Given the description of an element on the screen output the (x, y) to click on. 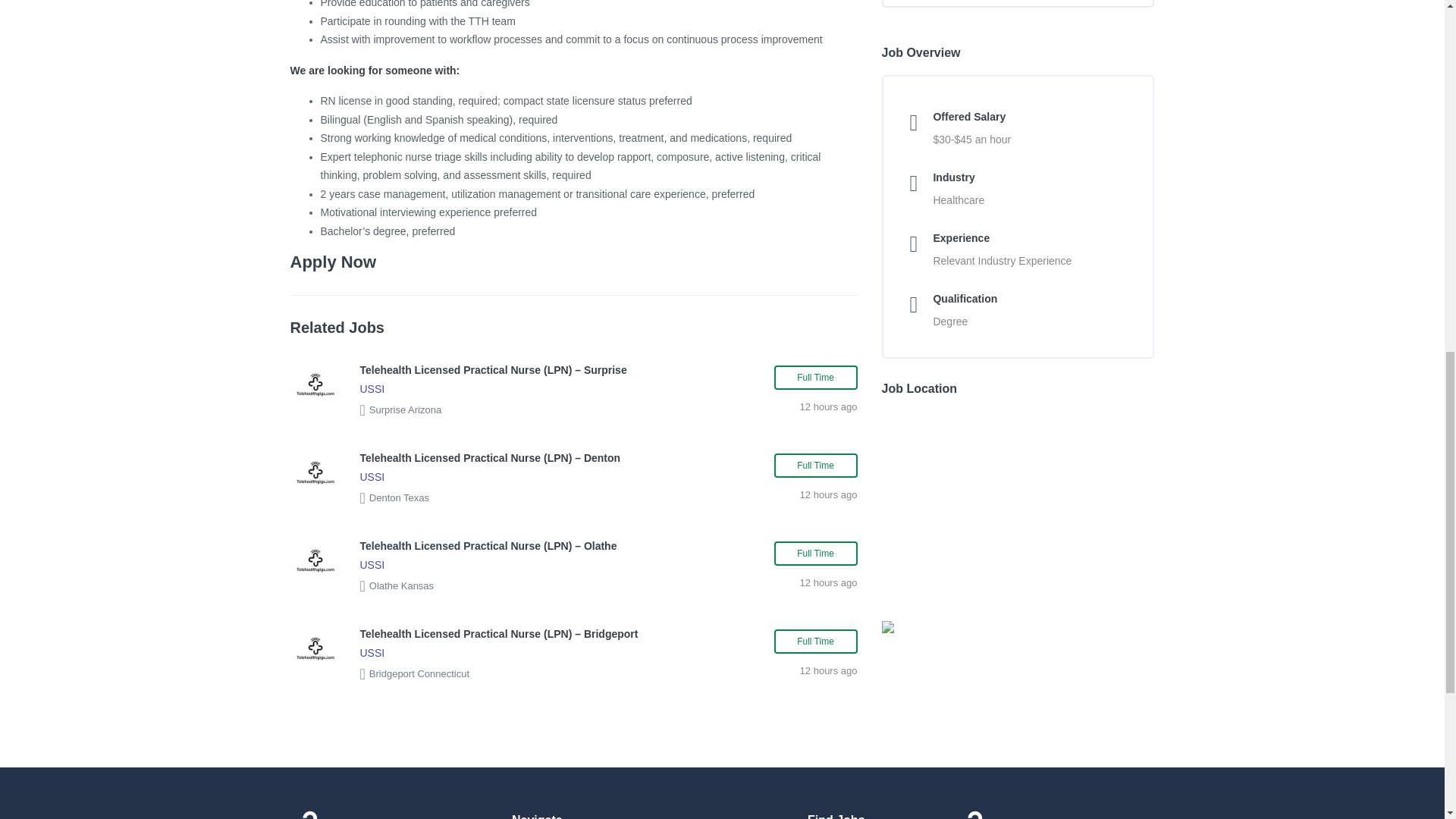
Healthcare (958, 200)
Relevant Industry Experience (1002, 260)
Apply Now (332, 261)
